Given the description of an element on the screen output the (x, y) to click on. 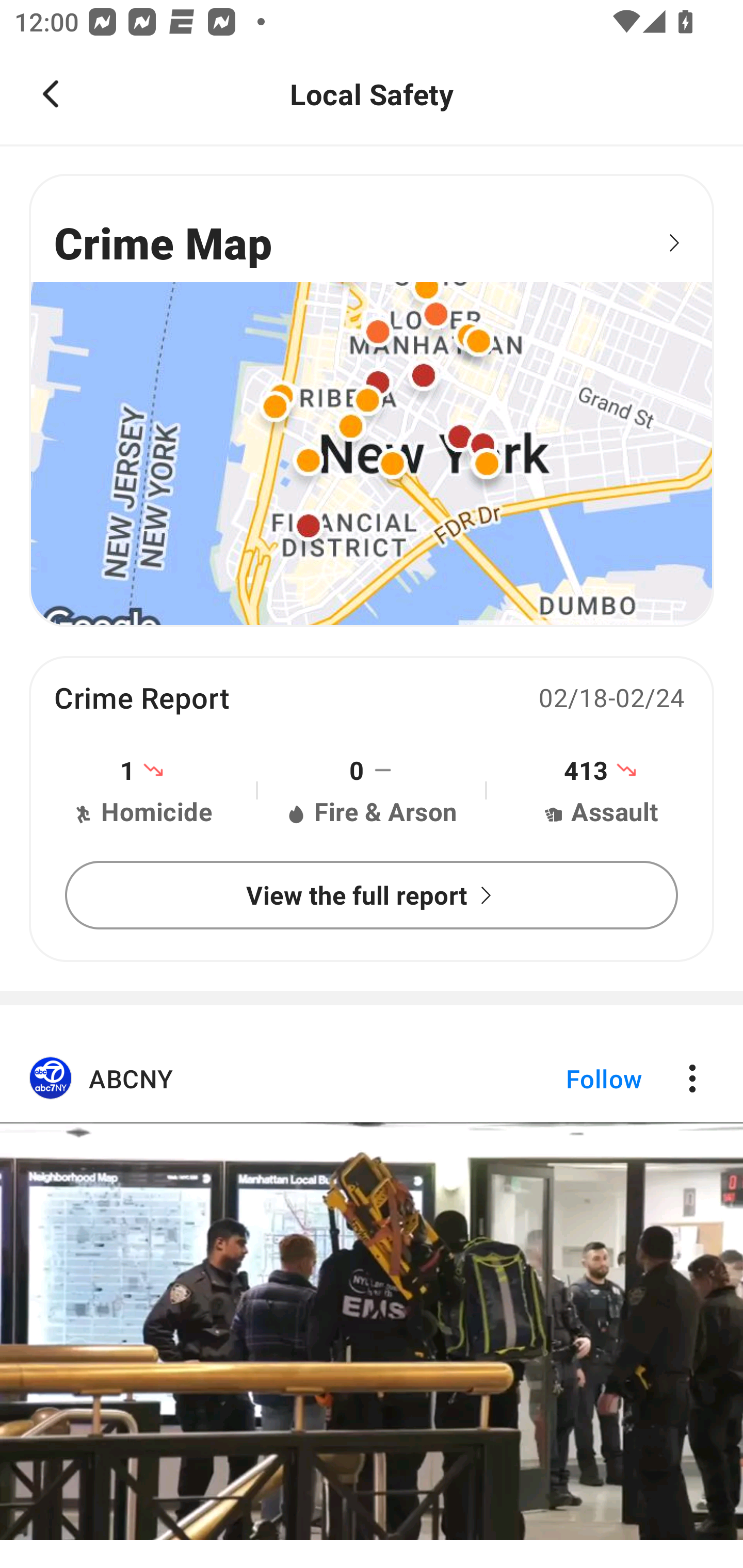
Navigate up (50, 93)
Crime Map (371, 400)
View the full report (371, 894)
ABCNY Follow (371, 1301)
ABCNY Follow (371, 1078)
Follow (569, 1078)
